Given the description of an element on the screen output the (x, y) to click on. 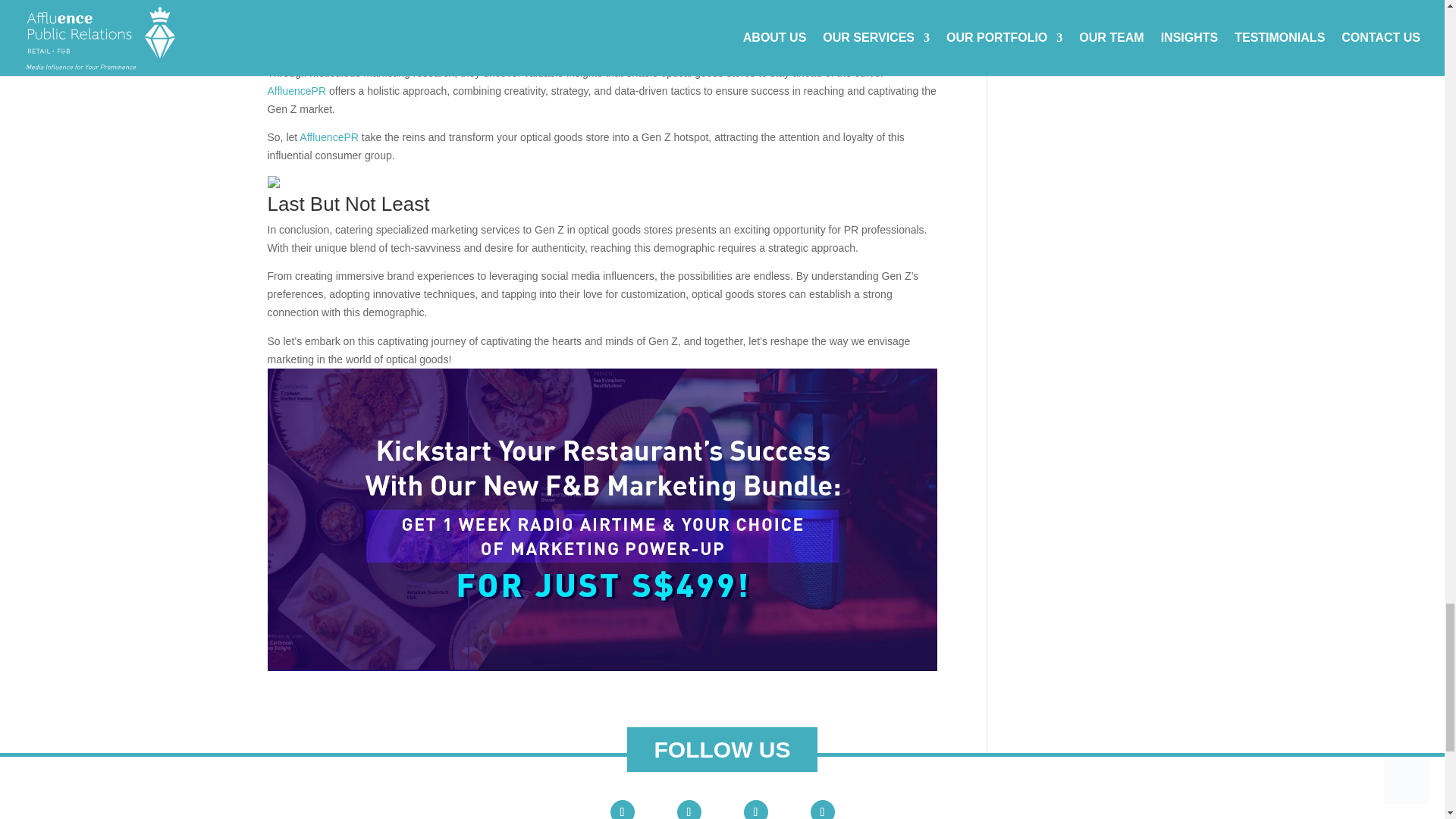
Follow on Instagram (821, 809)
Follow on Facebook (688, 809)
AffluencePR (296, 91)
AffluencePR (850, 8)
AffluencePR (328, 137)
Follow on Youtube (621, 809)
Follow on LinkedIn (754, 809)
